Given the description of an element on the screen output the (x, y) to click on. 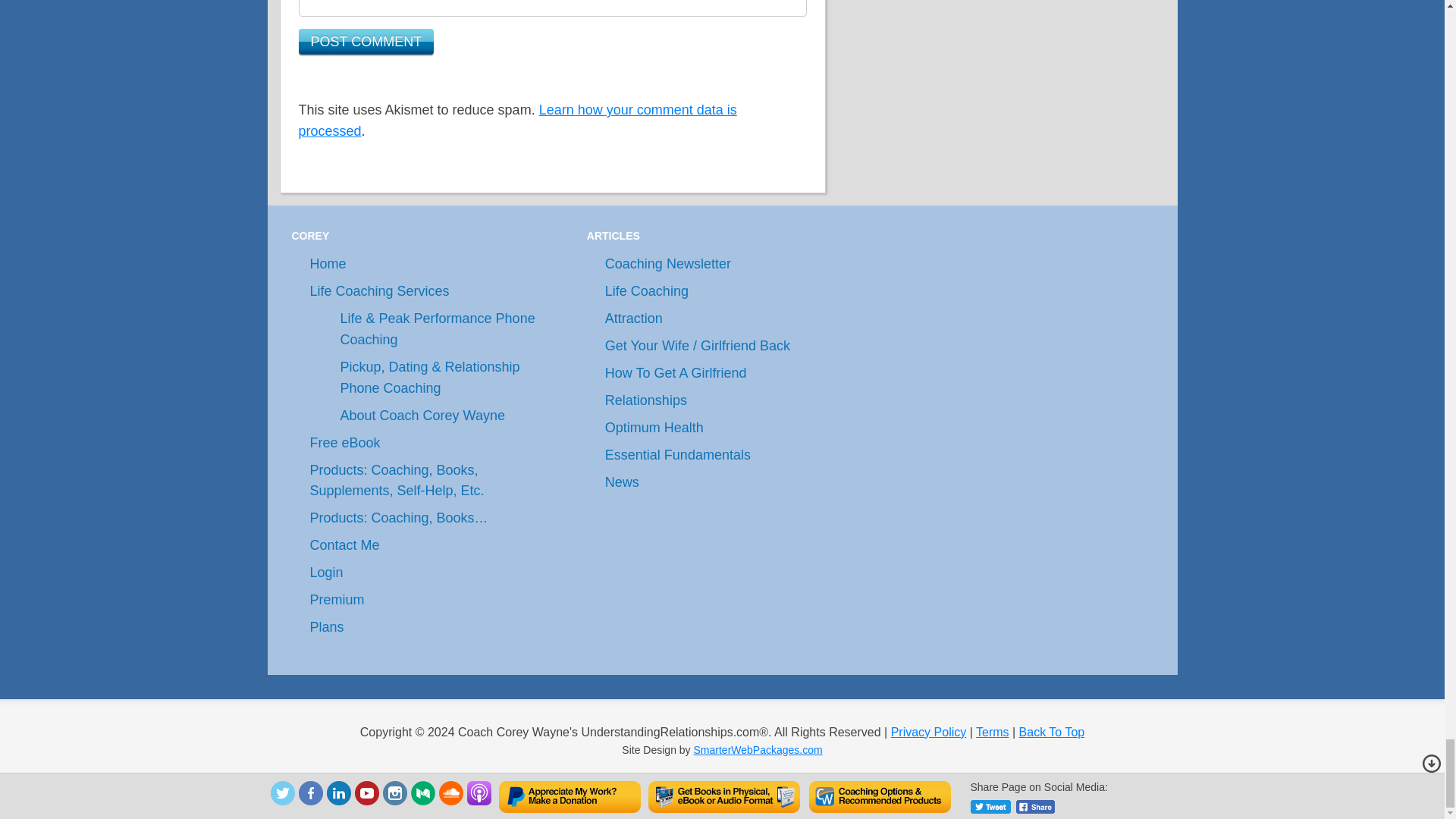
Post Comment (365, 41)
